Given the description of an element on the screen output the (x, y) to click on. 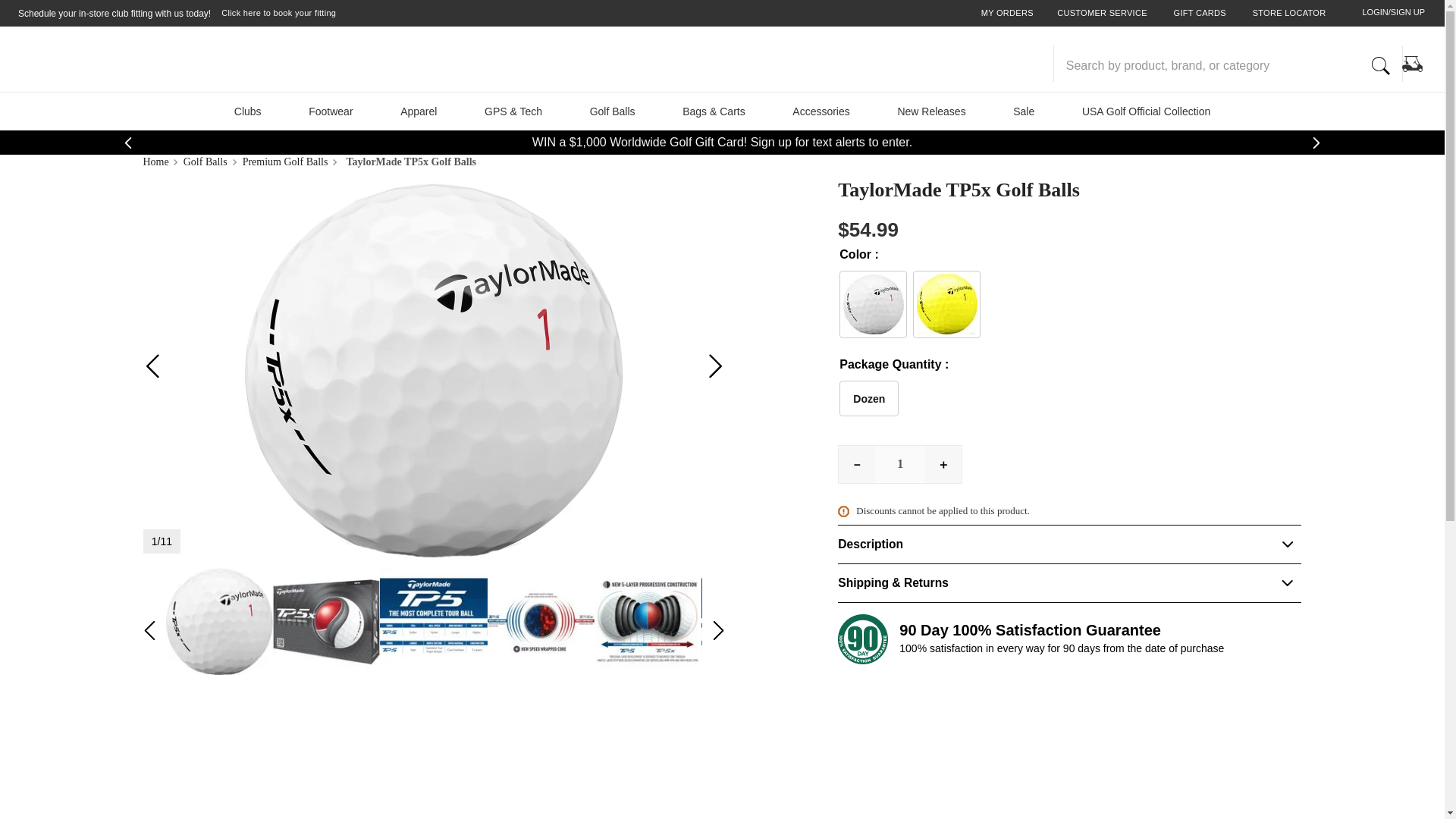
CUSTOMER SERVICE (1102, 13)
Sale (1024, 111)
Accessories (820, 111)
GIFT CARDS (1199, 13)
New Releases (931, 111)
MY ORDERS (1007, 13)
GPS-Tech (513, 111)
Apparel (419, 111)
Click here to book your fitting (278, 13)
Footwear (331, 111)
